Given the description of an element on the screen output the (x, y) to click on. 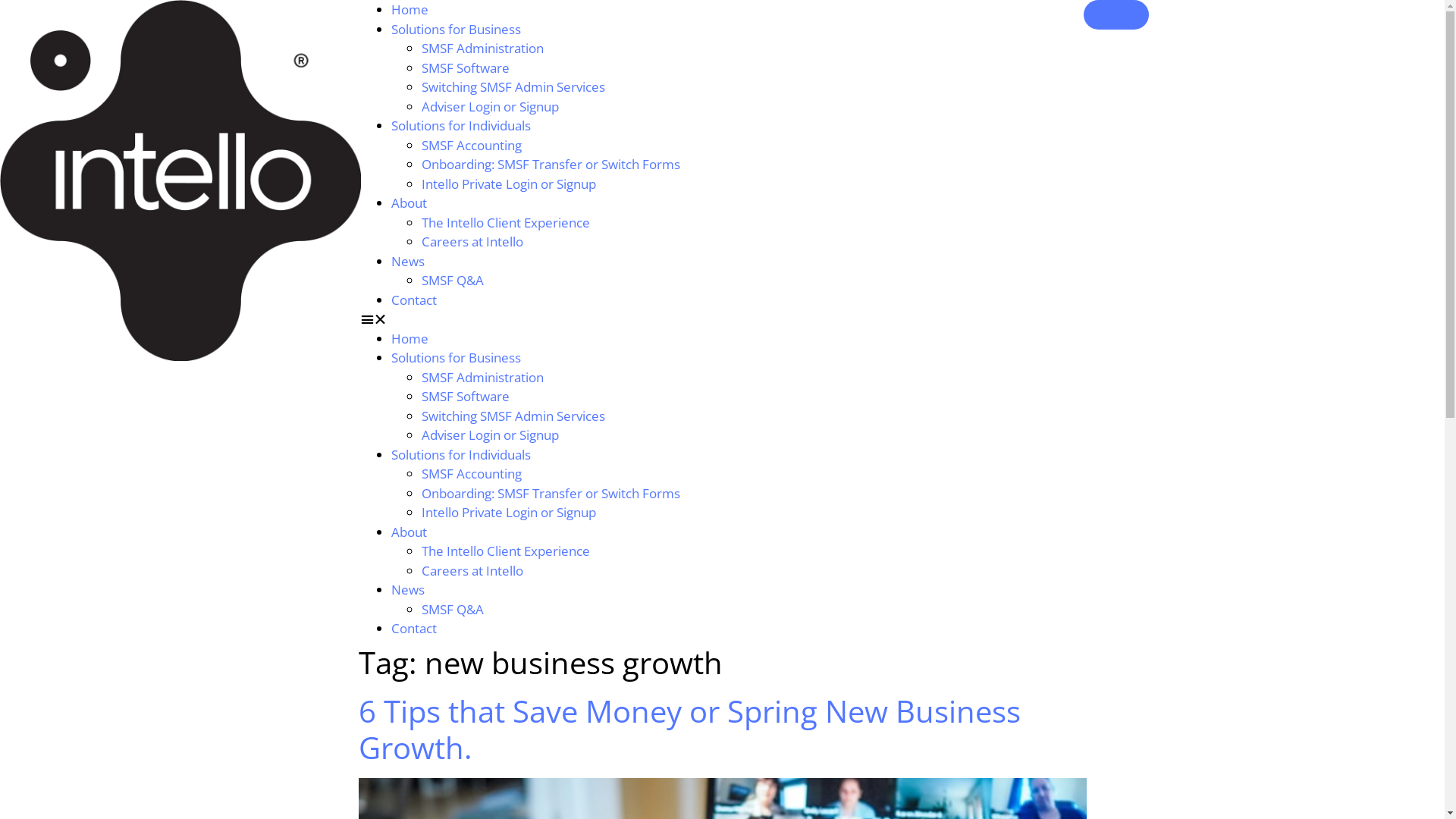
Adviser Login or Signup Element type: text (489, 105)
SMSF Administration Element type: text (482, 376)
The Intello Client Experience Element type: text (505, 222)
6 Tips that Save Money or Spring New Business Growth. Element type: text (688, 729)
SMSF Accounting Element type: text (471, 473)
Home Element type: text (409, 337)
Adviser Login or Signup Element type: text (489, 434)
Careers at Intello Element type: text (472, 569)
Careers at Intello Element type: text (472, 241)
Login Element type: text (1115, 14)
Intello Private Login or Signup Element type: text (508, 511)
SMSF Software Element type: text (465, 67)
Solutions for Business Element type: text (455, 28)
Intello Private Login or Signup Element type: text (508, 182)
SMSF Accounting Element type: text (471, 144)
SMSF Administration Element type: text (482, 47)
Contact Element type: text (413, 299)
News Element type: text (407, 260)
The Intello Client Experience Element type: text (505, 550)
Onboarding: SMSF Transfer or Switch Forms Element type: text (550, 163)
Home Element type: text (409, 9)
Contact Element type: text (413, 628)
Switching SMSF Admin Services Element type: text (513, 86)
Solutions for Individuals Element type: text (460, 125)
Onboarding: SMSF Transfer or Switch Forms Element type: text (550, 492)
SMSF Q&A Element type: text (452, 609)
About Element type: text (408, 202)
SMSF Q&A Element type: text (452, 279)
SMSF Software Element type: text (465, 395)
Solutions for Business Element type: text (455, 357)
About Element type: text (408, 531)
News Element type: text (407, 589)
Switching SMSF Admin Services Element type: text (513, 414)
Solutions for Individuals Element type: text (460, 454)
